Given the description of an element on the screen output the (x, y) to click on. 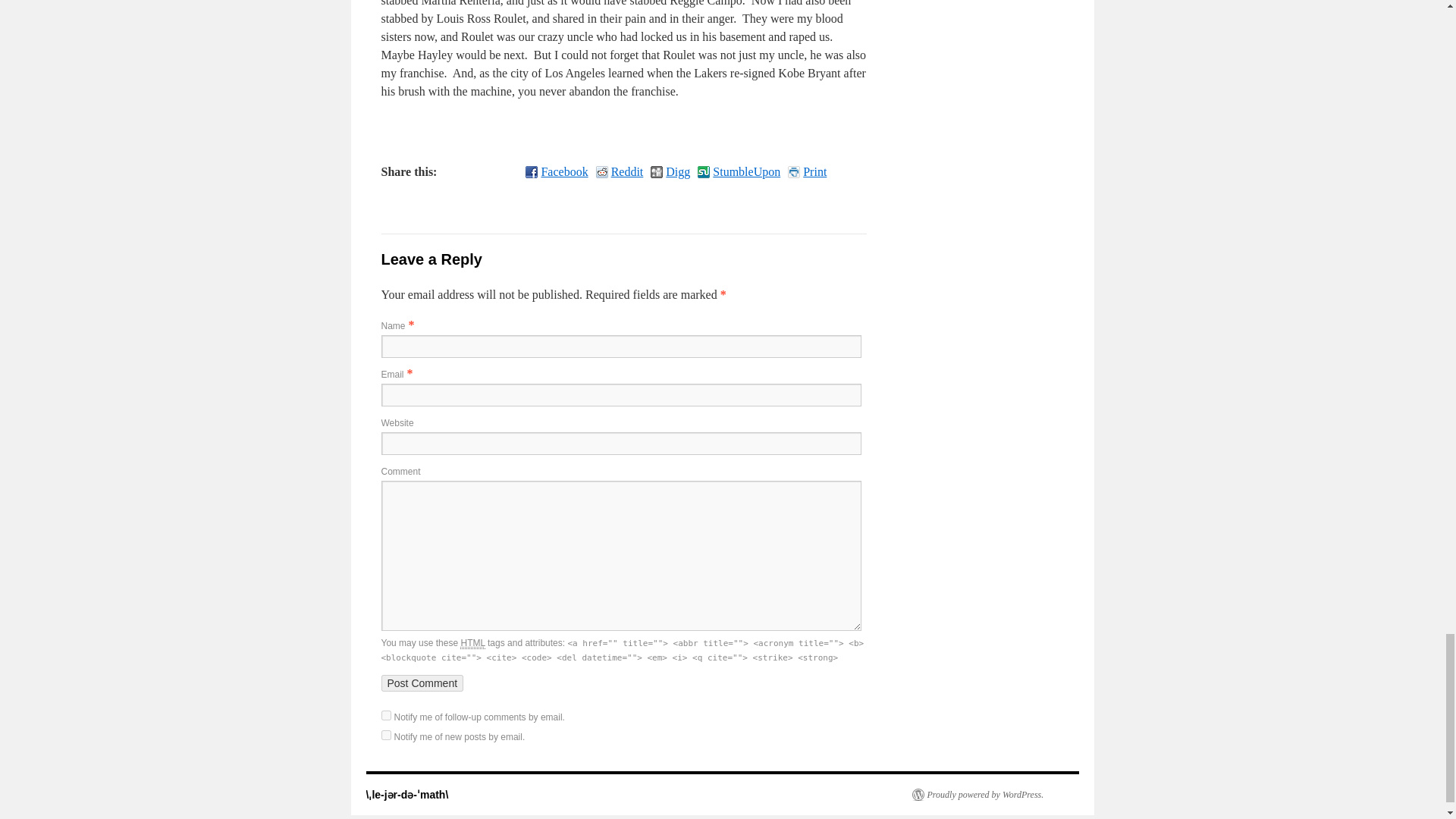
Click to Digg this post (670, 171)
Digg (670, 171)
Reddit (619, 171)
HyperText Markup Language (472, 643)
Click to print (807, 171)
subscribe (385, 735)
Click to share on Reddit (619, 171)
Facebook (556, 171)
StumbleUpon (738, 171)
Post Comment (421, 682)
subscribe (385, 715)
Share on Facebook (556, 171)
Click to share on StumbleUpon (738, 171)
Post Comment (421, 682)
Print (807, 171)
